Given the description of an element on the screen output the (x, y) to click on. 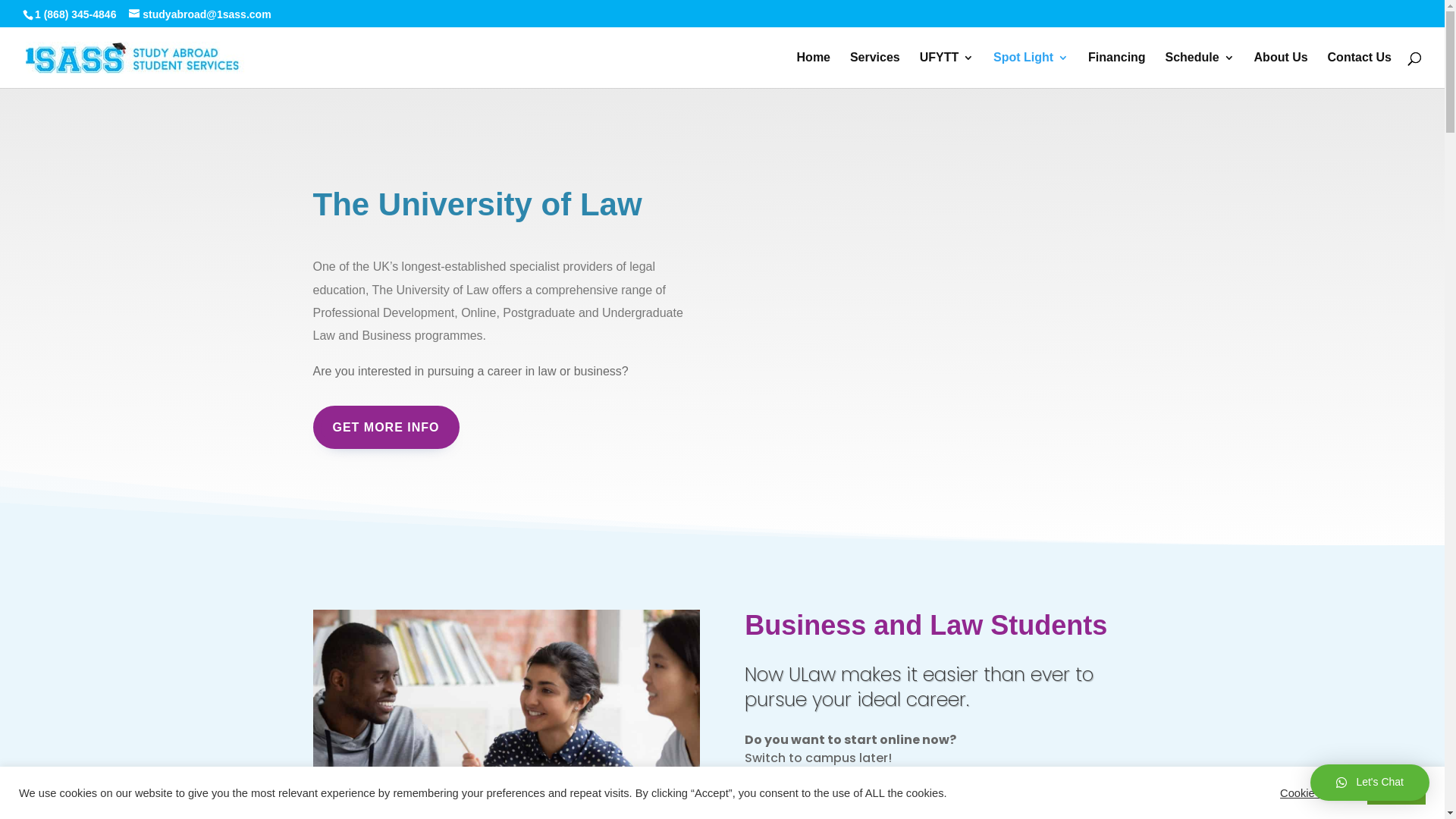
Spot Light Element type: text (1030, 69)
Services Element type: text (875, 69)
Financing Element type: text (1116, 69)
GET MORE INFO Element type: text (385, 426)
UFYTT Element type: text (946, 69)
Let's Chat Element type: text (1369, 782)
Cookie settings Element type: text (1317, 792)
studyabroad@1sass.com Element type: text (199, 13)
ACCEPT Element type: text (1396, 792)
Schedule Element type: text (1199, 69)
About Us Element type: text (1281, 69)
Home Element type: text (813, 69)
Contact Us Element type: text (1359, 69)
